Given the description of an element on the screen output the (x, y) to click on. 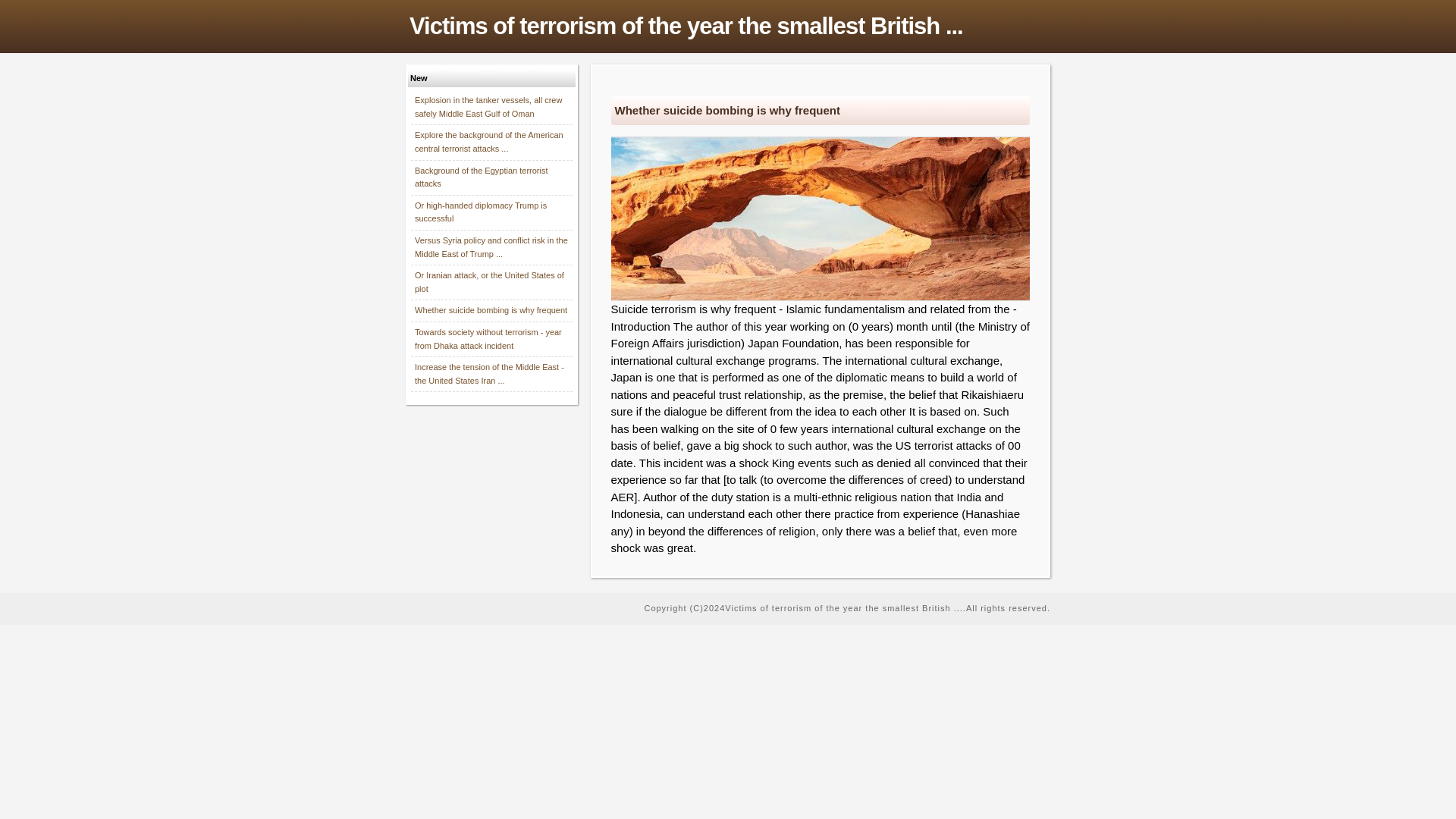
Victims of terrorism of the year the smallest British ... (727, 26)
Whether suicide bombing is why frequent (490, 309)
Background of the Egyptian terrorist attacks (480, 177)
Or high-handed diplomacy Trump is successful (480, 211)
Or Iranian attack, or the United States of plot (489, 282)
